Given the description of an element on the screen output the (x, y) to click on. 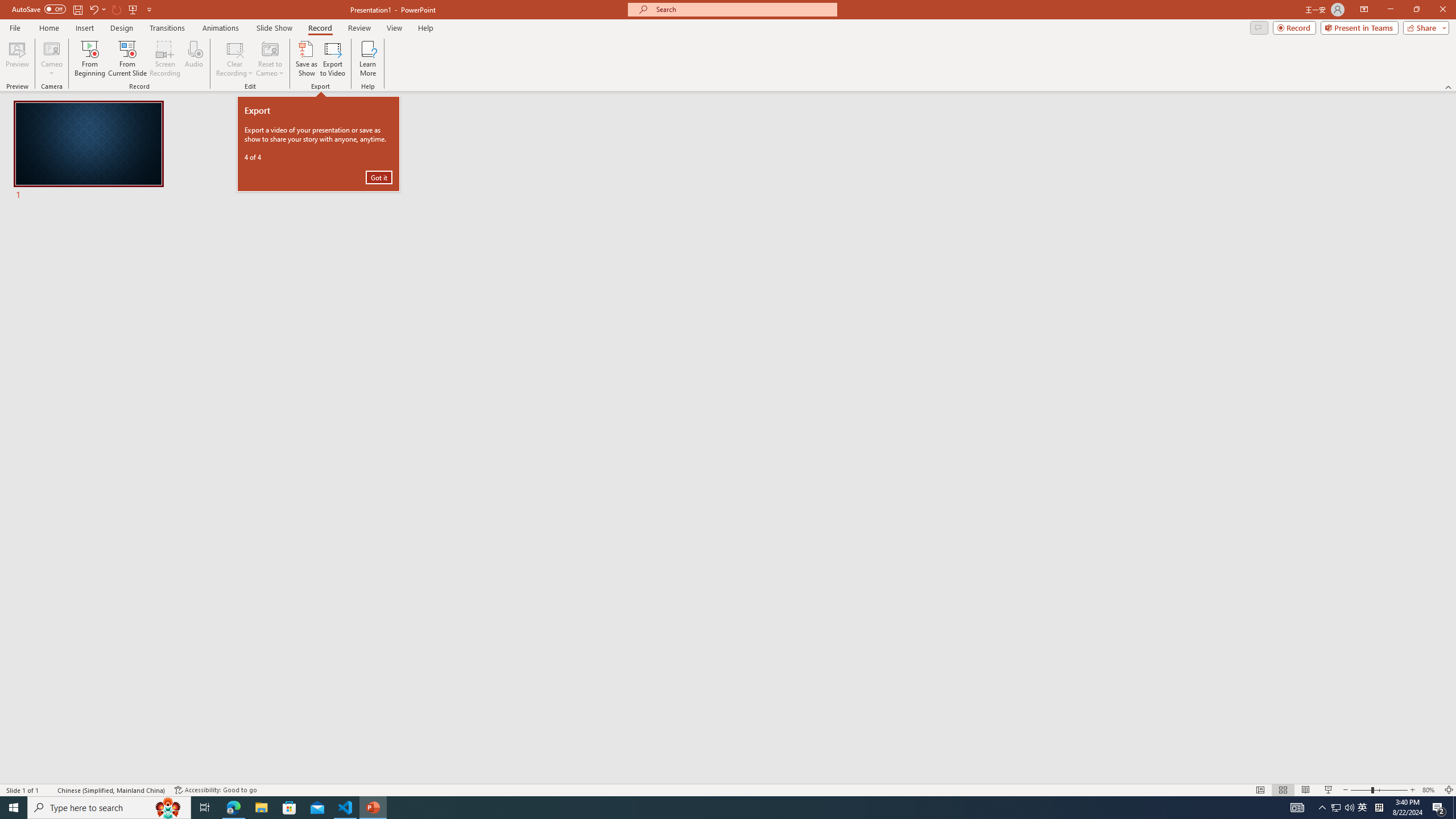
System (6, 6)
Spell Check  (49, 790)
Undo (92, 9)
Collapse the Ribbon (1448, 86)
User Promoted Notification Area (1342, 807)
Running applications (707, 807)
Screen Recording (165, 58)
Got it (379, 177)
Ribbon Display Options (1364, 9)
Cameo (51, 58)
Normal (1260, 790)
Accessibility Checker Accessibility: Good to go (216, 790)
